Given the description of an element on the screen output the (x, y) to click on. 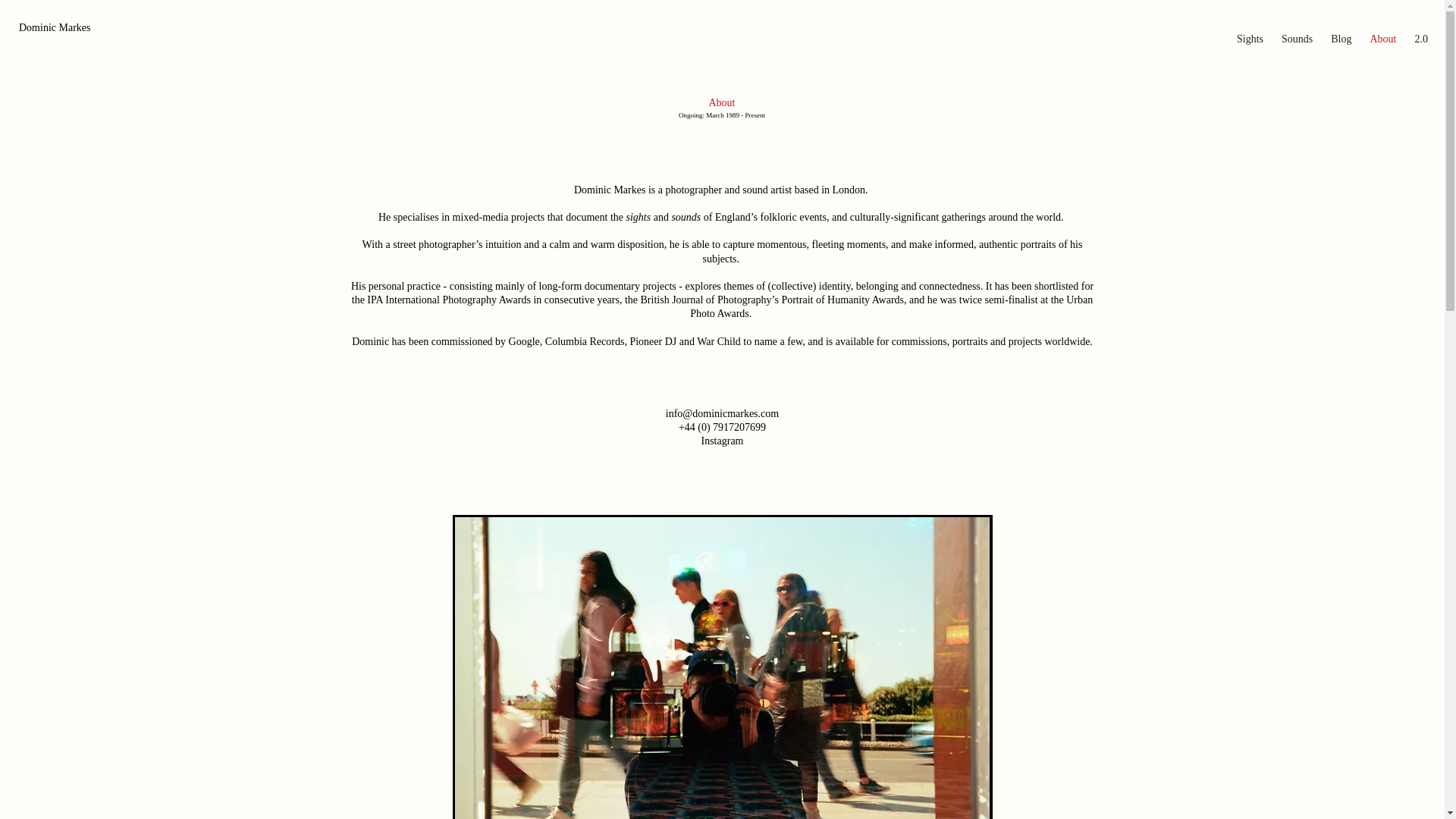
Sights (1249, 39)
Sounds (1297, 39)
About (1382, 39)
Blog (1340, 39)
Instagram (721, 440)
2.0 (1421, 39)
Dominic Markes (54, 27)
